Given the description of an element on the screen output the (x, y) to click on. 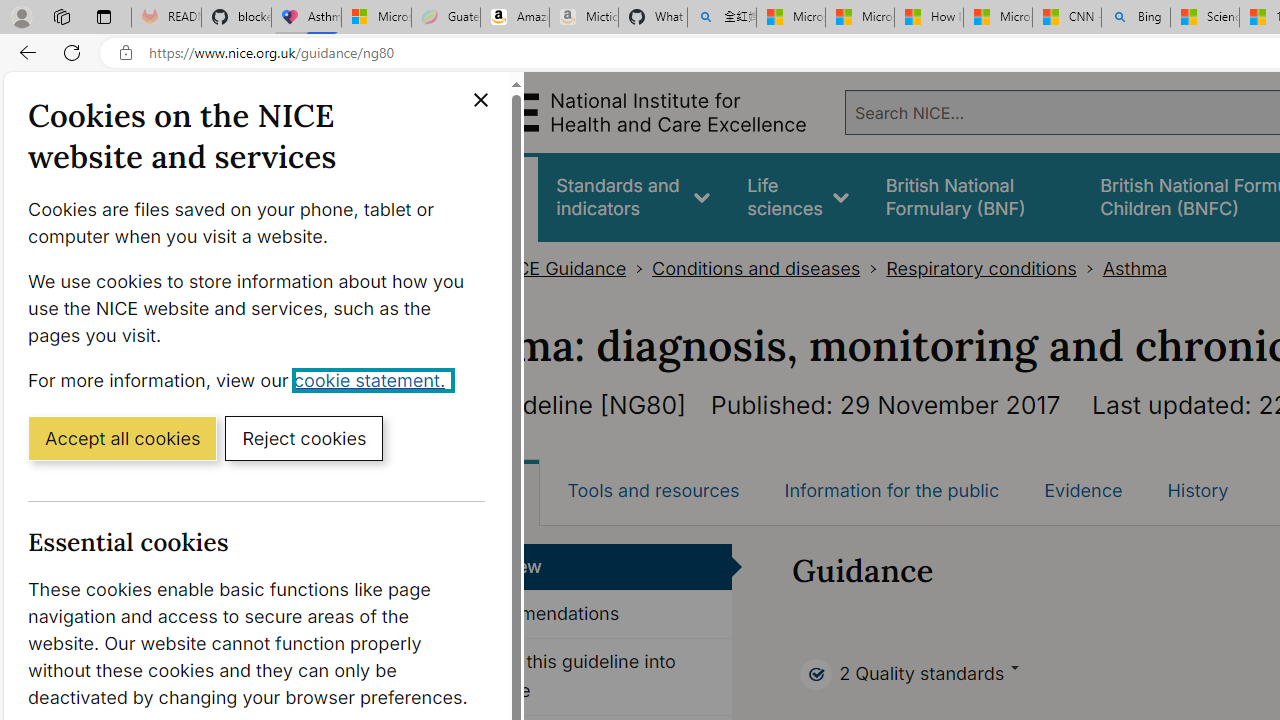
Overview (588, 566)
Respiratory conditions (980, 268)
Reject cookies (304, 437)
Evidence (1083, 490)
Asthma (1134, 268)
Information for the public (891, 490)
Tools and resources (653, 490)
